Given the description of an element on the screen output the (x, y) to click on. 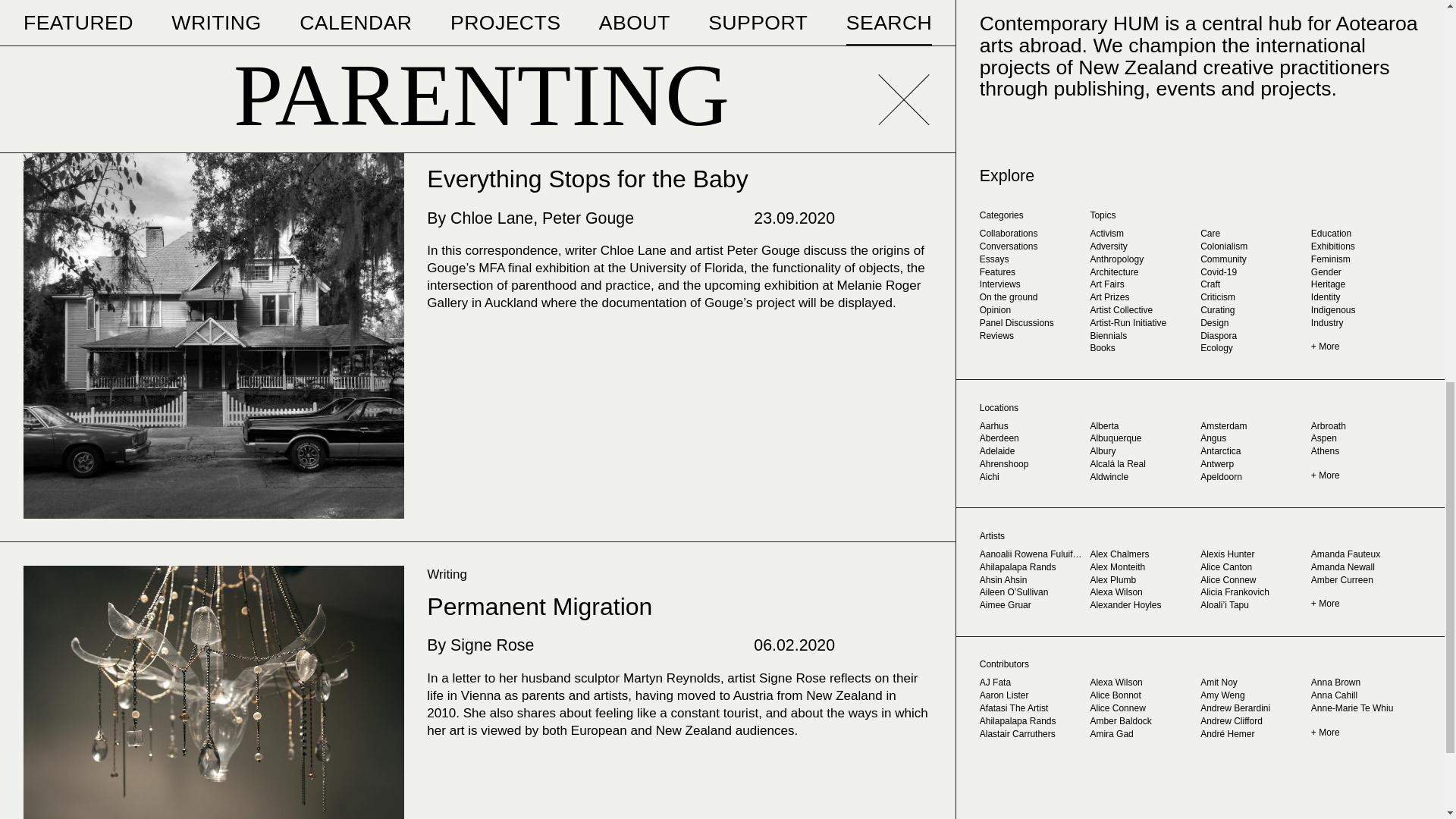
Louise Lever, Revolt She Said, 2021 (213, 45)
Image courtesy of the author (213, 692)
